Given the description of an element on the screen output the (x, y) to click on. 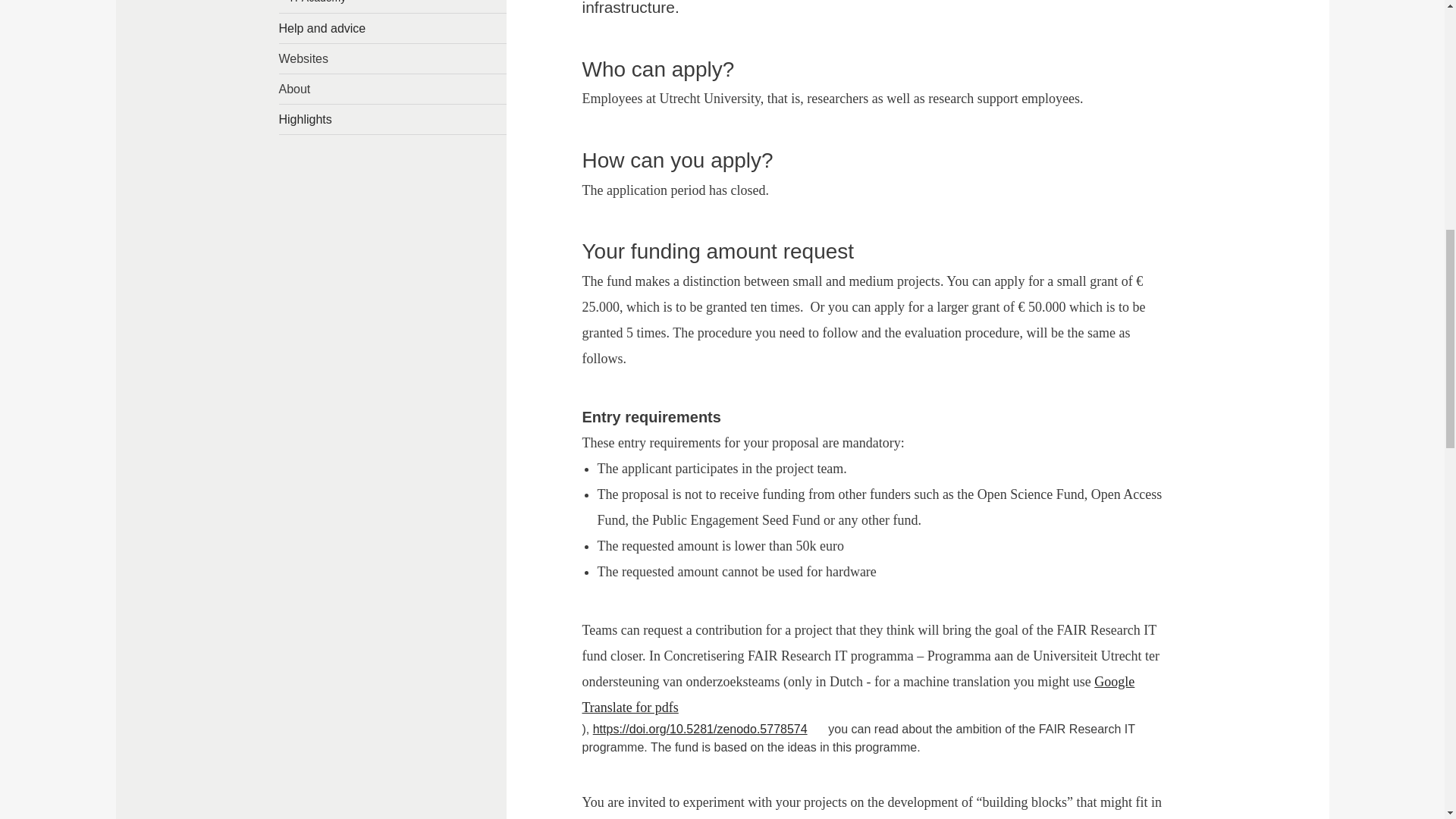
IT Academy (392, 6)
Help and advice (392, 28)
Google Translate for pdfs (858, 694)
Highlights (392, 119)
